Given the description of an element on the screen output the (x, y) to click on. 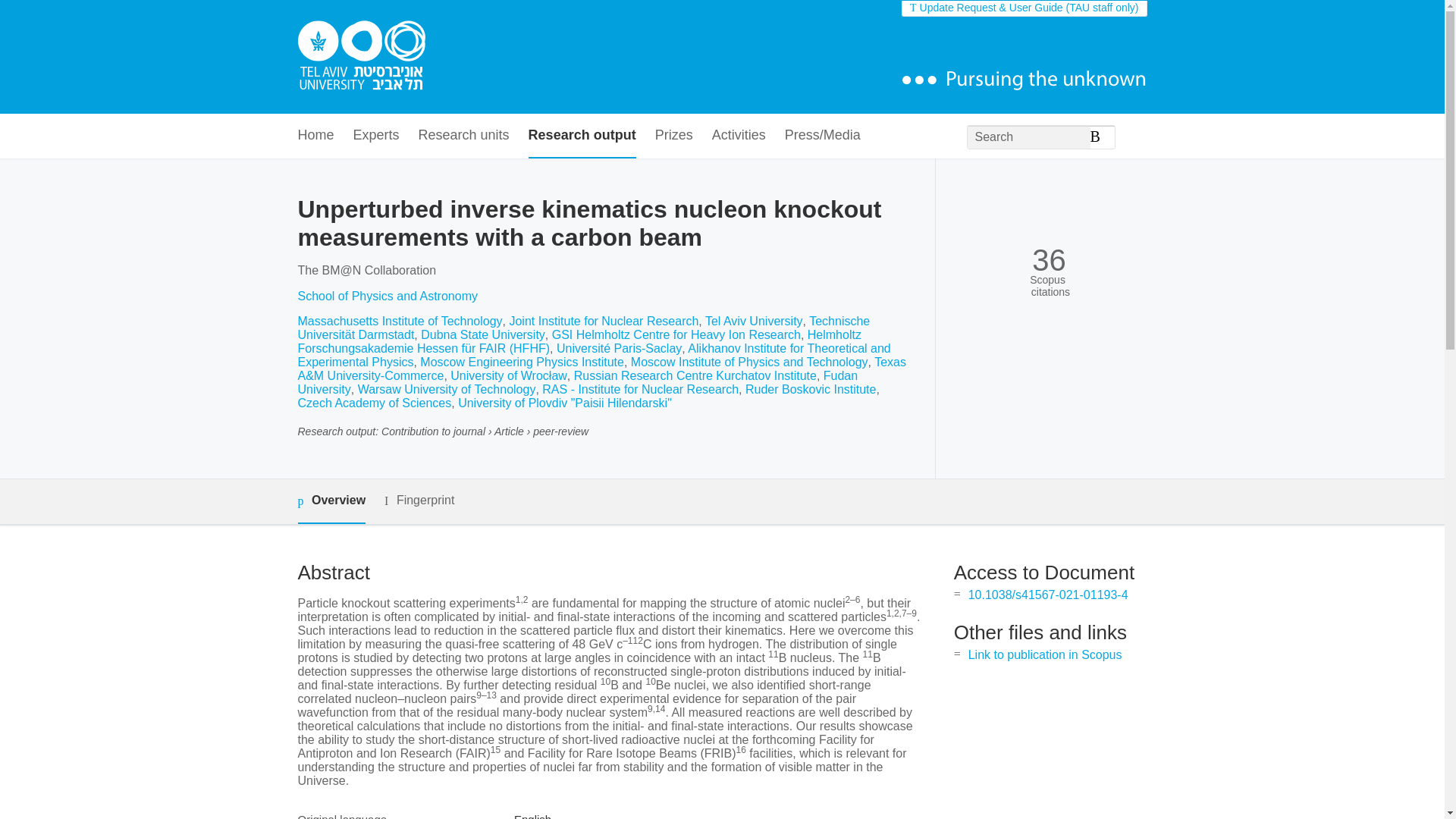
GSI Helmholtz Centre for Heavy Ion Research (675, 334)
Alikhanov Institute for Theoretical and Experimental Physics (593, 355)
Fudan University (577, 382)
School of Physics and Astronomy (387, 295)
Overview (331, 501)
RAS - Institute for Nuclear Research (639, 389)
Warsaw University of Technology (446, 389)
Activities (738, 135)
University of Plovdiv "Paisii Hilendarski" (564, 402)
